Given the description of an element on the screen output the (x, y) to click on. 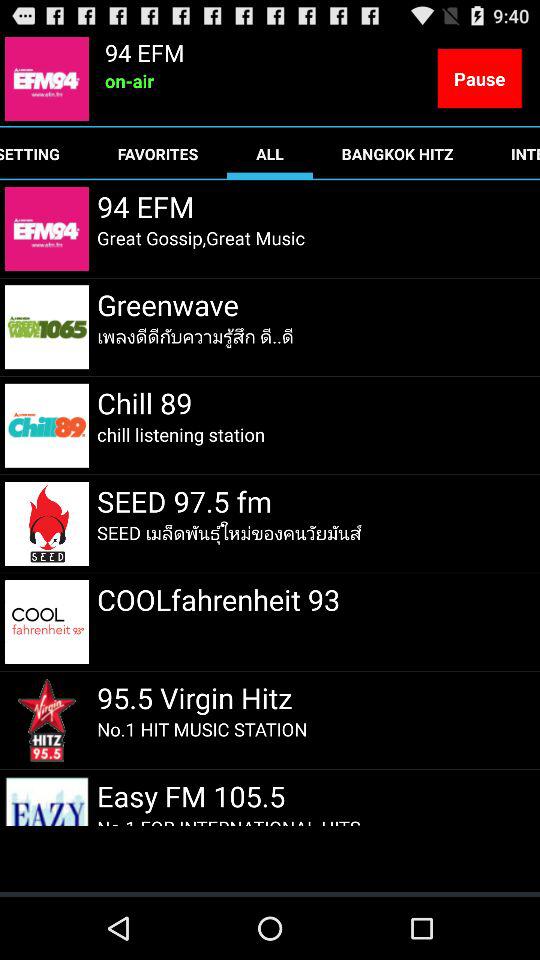
jump to the greenwave item (167, 304)
